Given the description of an element on the screen output the (x, y) to click on. 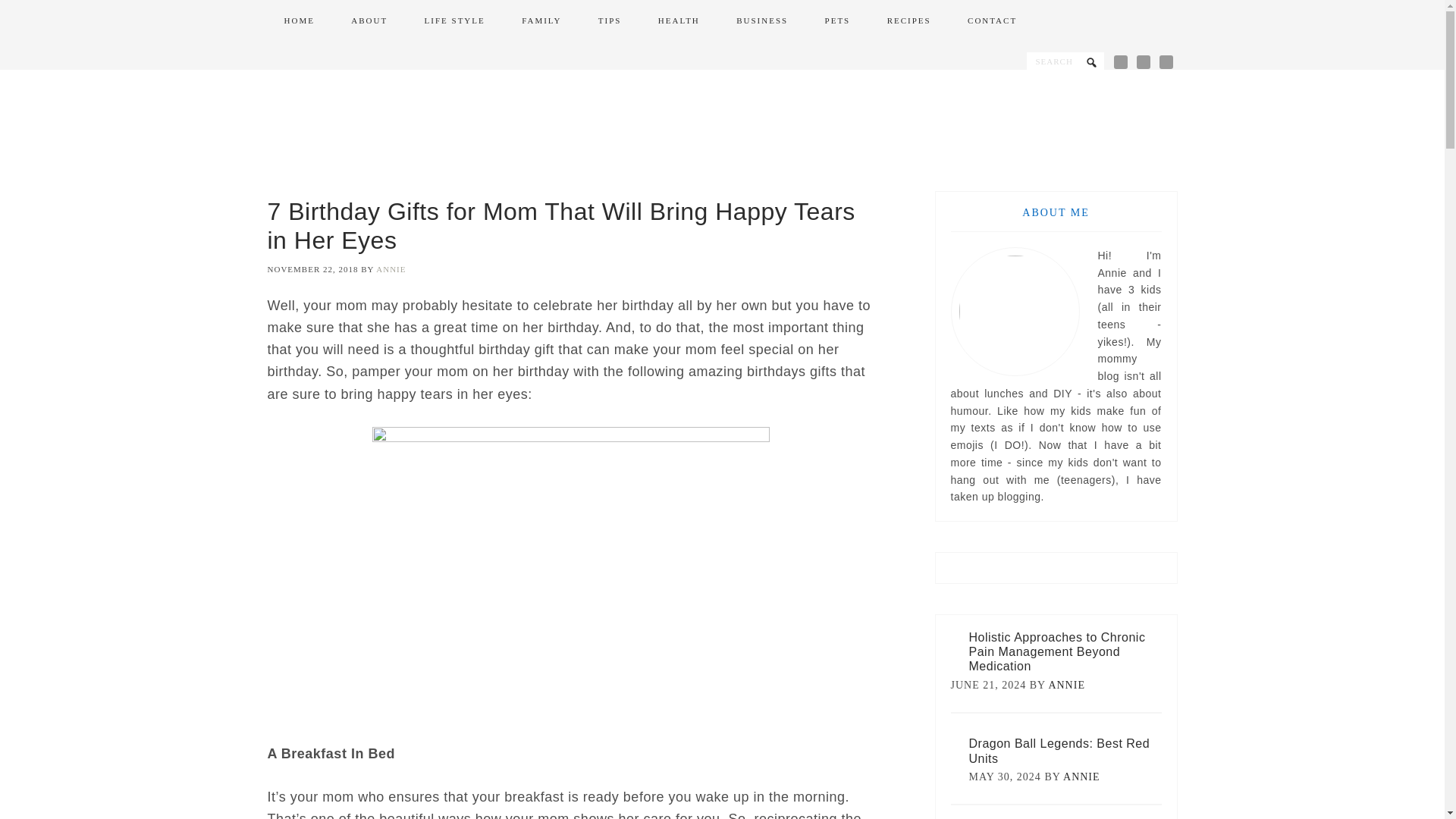
HOME (298, 20)
HEALTH (679, 20)
ANNIE (1081, 776)
ABOUT (369, 20)
ANNIE (1066, 685)
CONTACT (991, 20)
RECIPES (908, 20)
Dragon Ball Legends: Best Red Units (1059, 750)
BUSINESS (762, 20)
FAMILY (541, 20)
ANNIE (390, 268)
When Parents Text (721, 130)
LIFE STYLE (454, 20)
TIPS (609, 20)
